Given the description of an element on the screen output the (x, y) to click on. 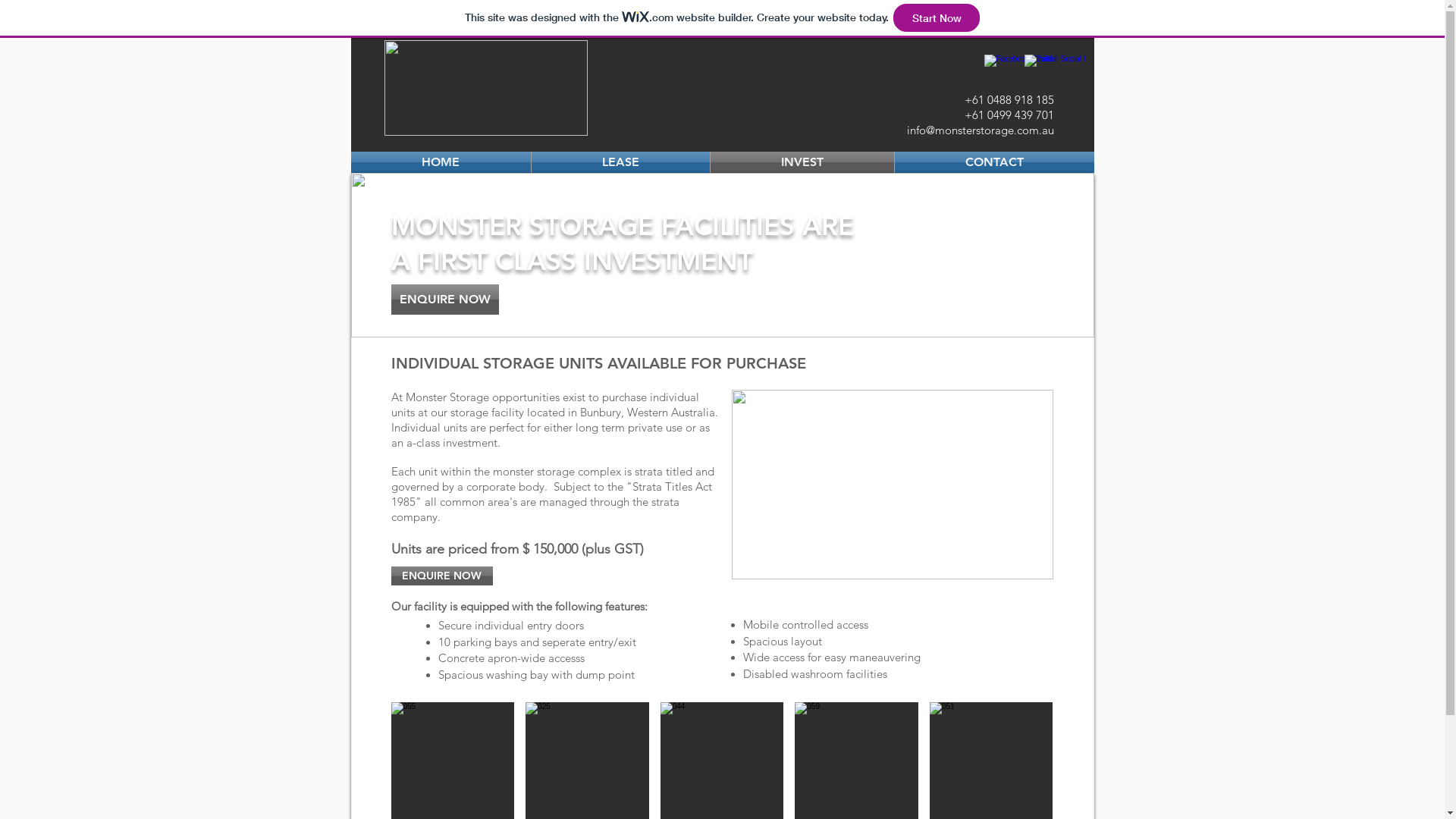
CONTACT Element type: text (994, 161)
INVEST Element type: text (801, 161)
LEASE Element type: text (619, 161)
ENQUIRE NOW Element type: text (444, 299)
Untitled-123.png Element type: hover (484, 87)
HOME Element type: text (440, 161)
ENQUIRE NOW Element type: text (441, 575)
